Given the description of an element on the screen output the (x, y) to click on. 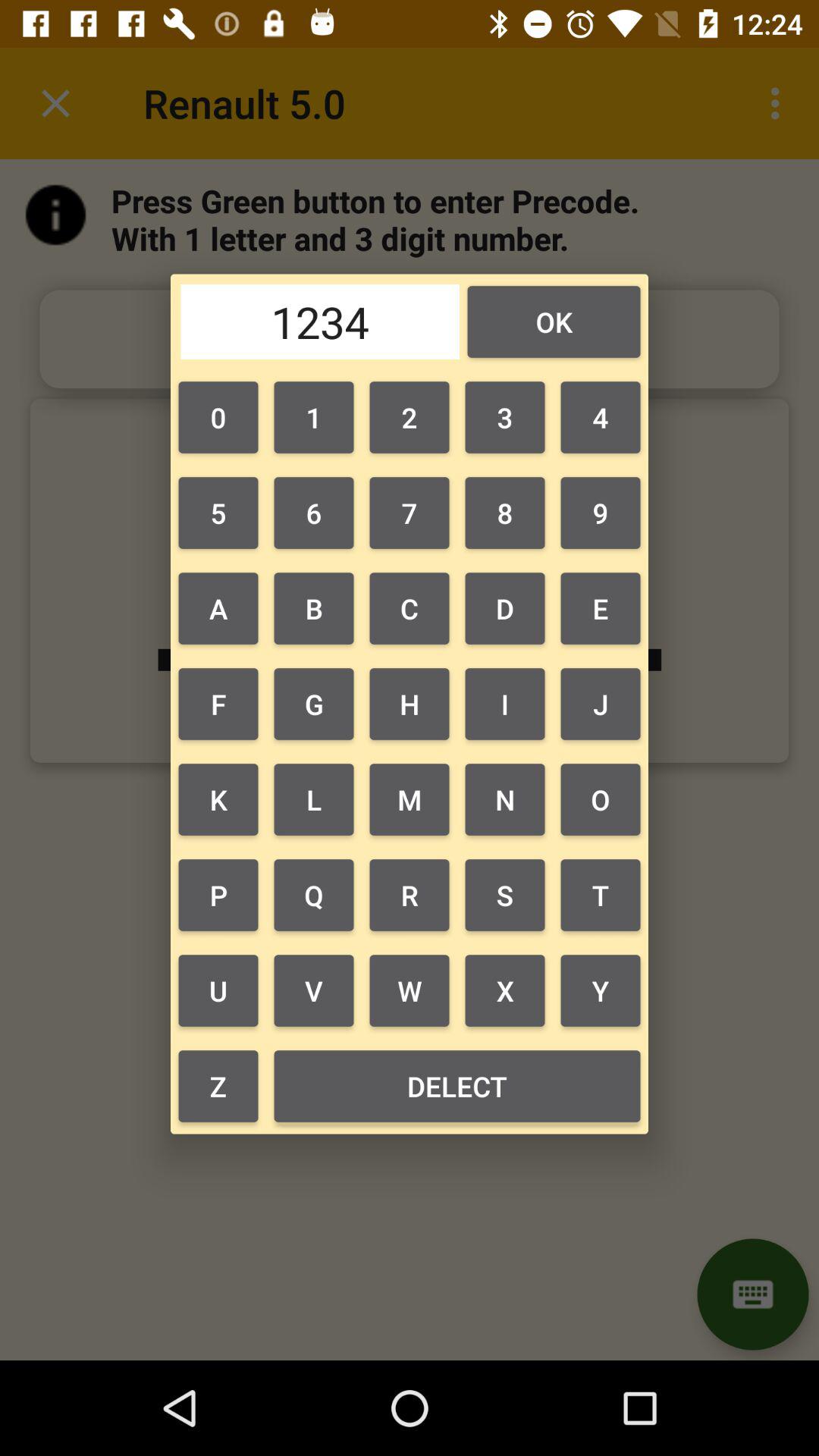
press the item next to t item (504, 990)
